Given the description of an element on the screen output the (x, y) to click on. 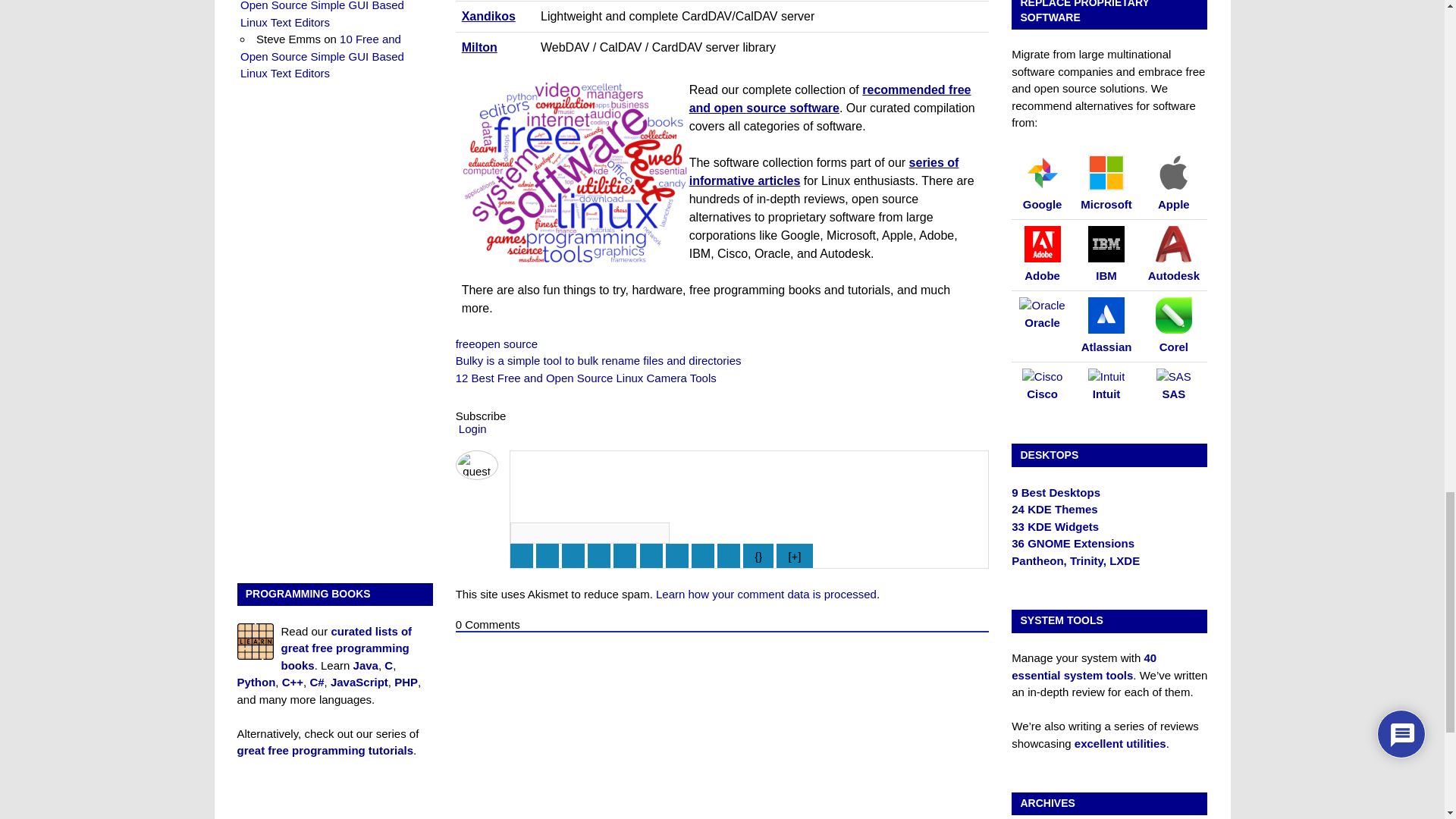
Underline (573, 555)
Code Block (702, 555)
Xandikos (488, 15)
Link (728, 555)
Unordered List (651, 555)
Milton (479, 47)
Blockquote (676, 555)
recommended free and open source software (829, 98)
Login (470, 428)
ordered (624, 555)
free (465, 343)
Source Code (757, 555)
Ordered List (585, 377)
